Given the description of an element on the screen output the (x, y) to click on. 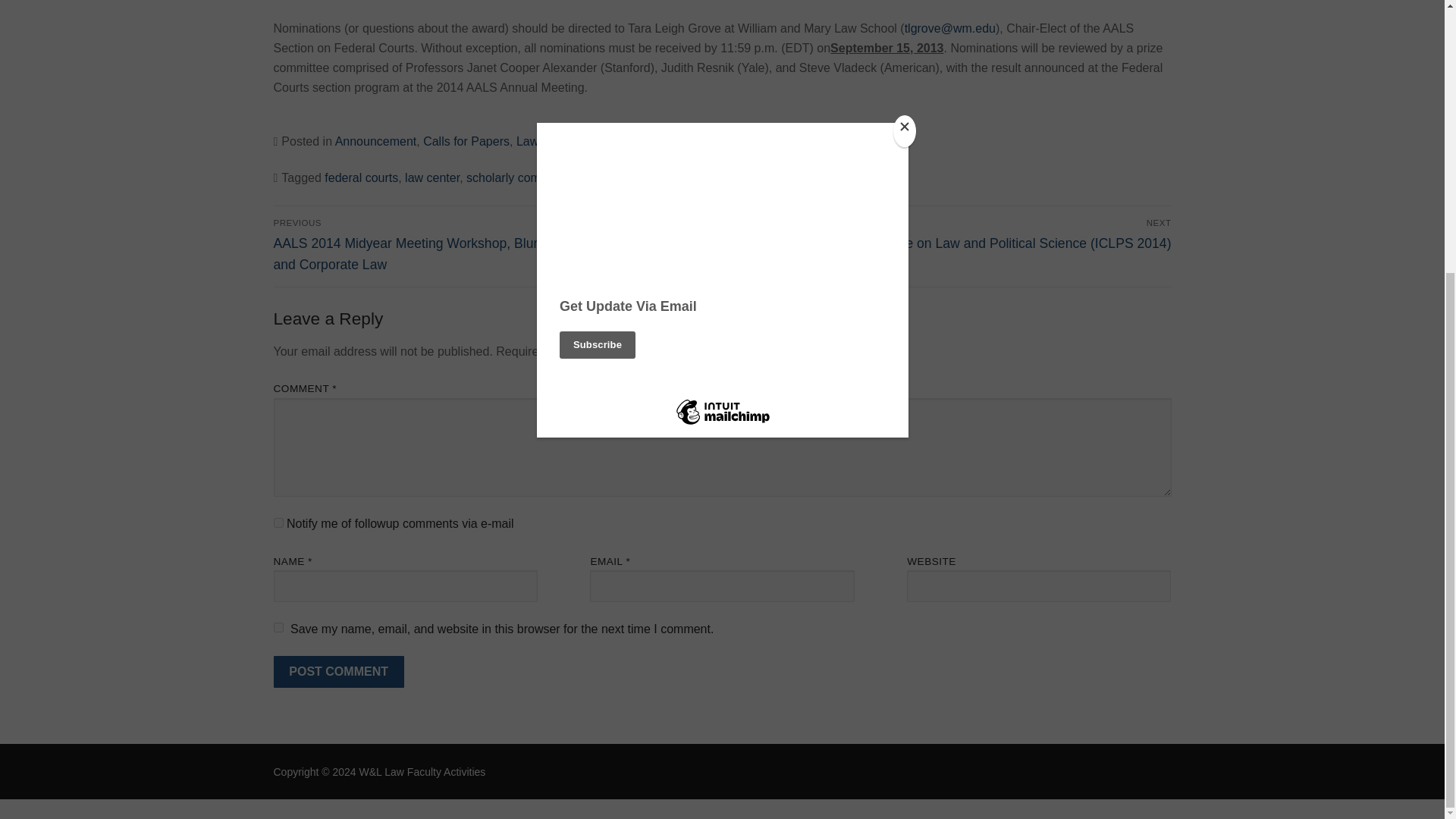
scholarly competitions (525, 177)
Submissions (749, 141)
Post Comment (338, 671)
subscribe (277, 522)
federal courts (360, 177)
yes (277, 627)
Post Comment (338, 671)
Calls for Papers (466, 141)
Law Center (547, 141)
Scholarly Competitions (647, 141)
law center (432, 177)
Announcement (375, 141)
